Given the description of an element on the screen output the (x, y) to click on. 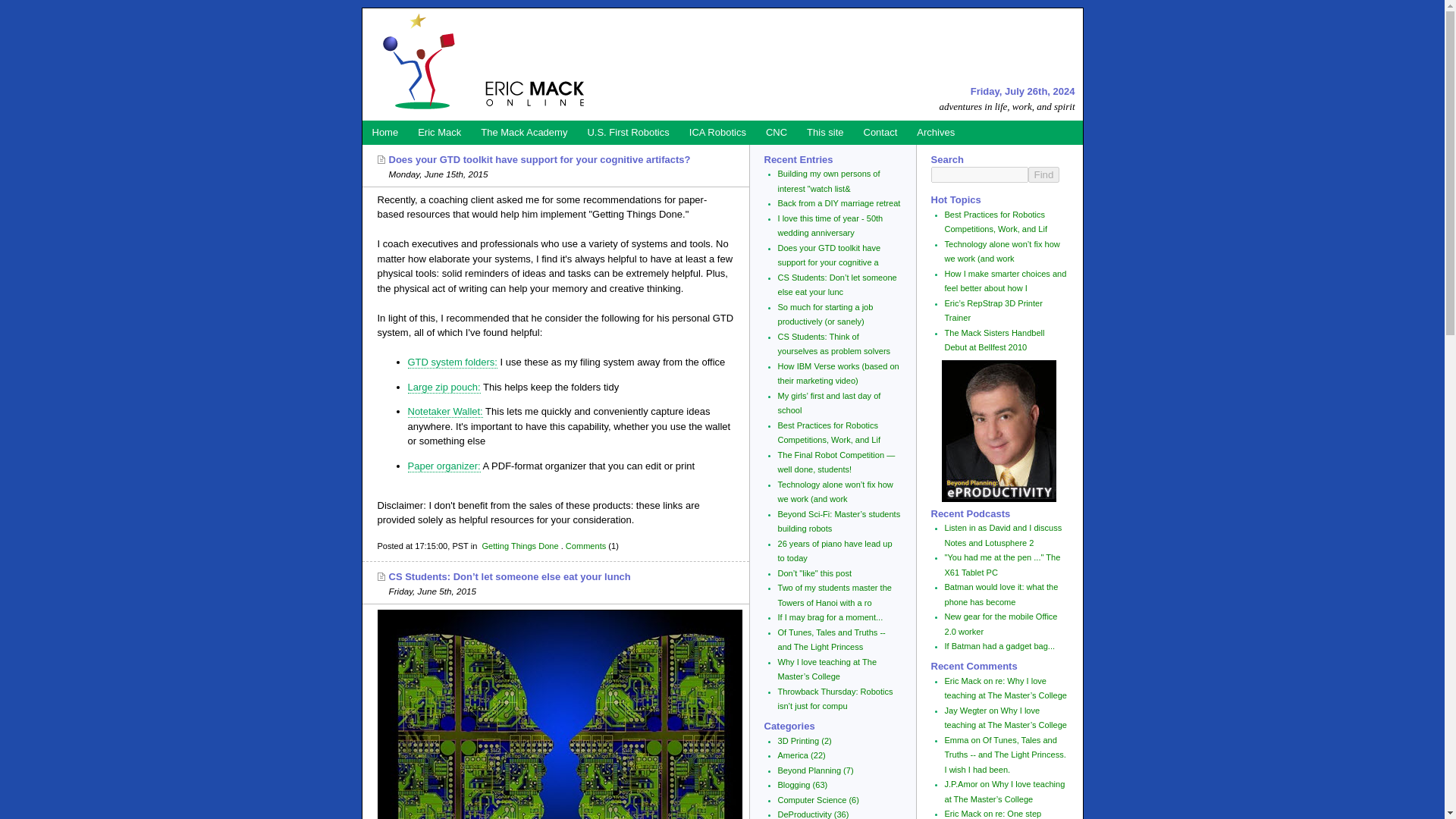
Eric Mack On-Line Home Page (480, 64)
Contact (880, 132)
ICA Robotics (717, 132)
Archives (935, 132)
GTD system folders: (452, 362)
Archives (935, 132)
The man behind the logo. (438, 132)
U.S. First Robotics (627, 132)
Paper organizer: (443, 465)
Comments (585, 545)
The Mack Family Web site (523, 132)
Getting Things Done (519, 545)
CNC (775, 132)
Home Page (385, 132)
